Given the description of an element on the screen output the (x, y) to click on. 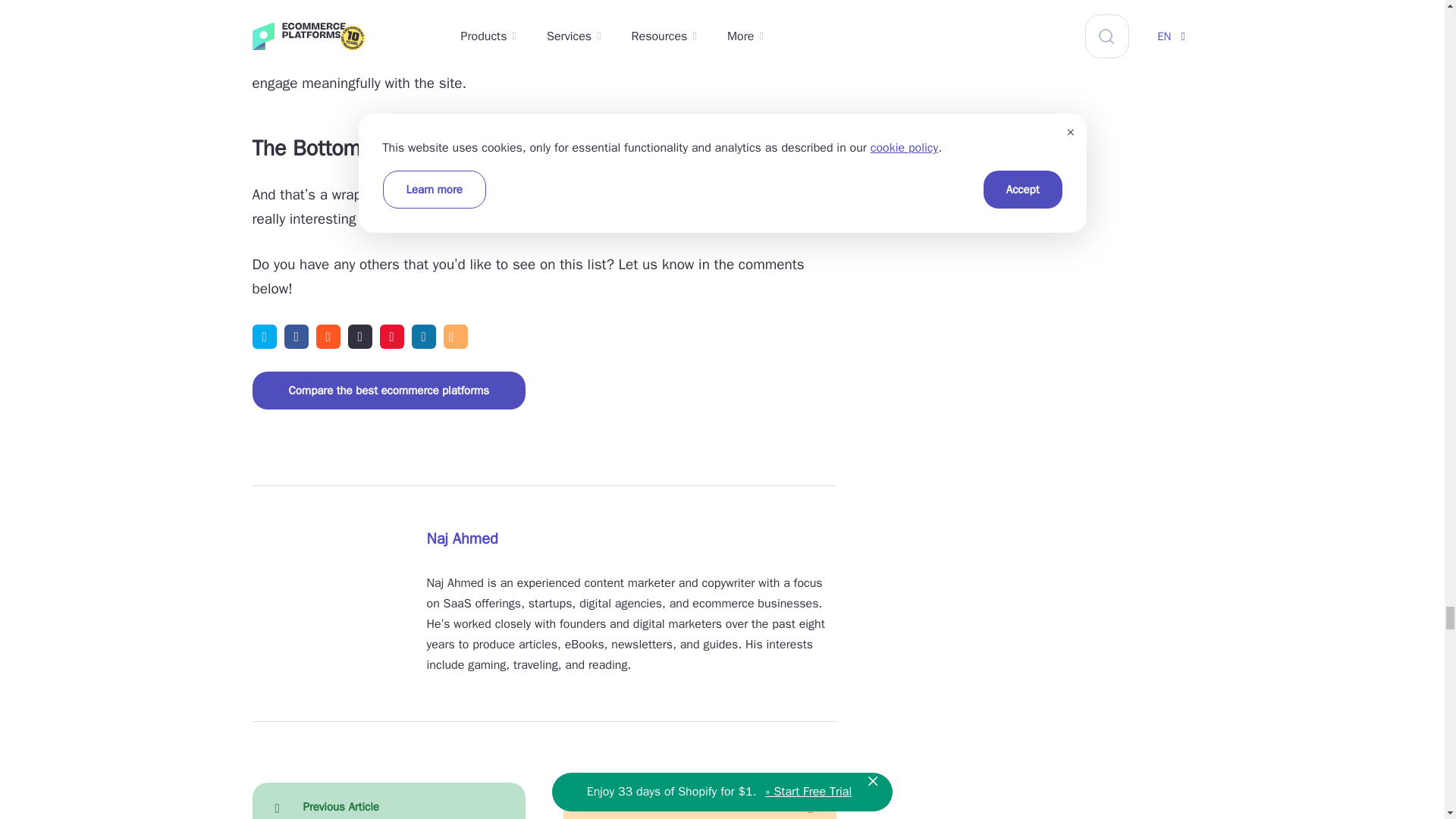
Save to pocket (390, 336)
Submit to reddit (327, 336)
Add to buffer (359, 336)
Share on Facebook (295, 336)
Email (454, 336)
Tweet (263, 336)
Share on LinkedIn (422, 336)
